Given the description of an element on the screen output the (x, y) to click on. 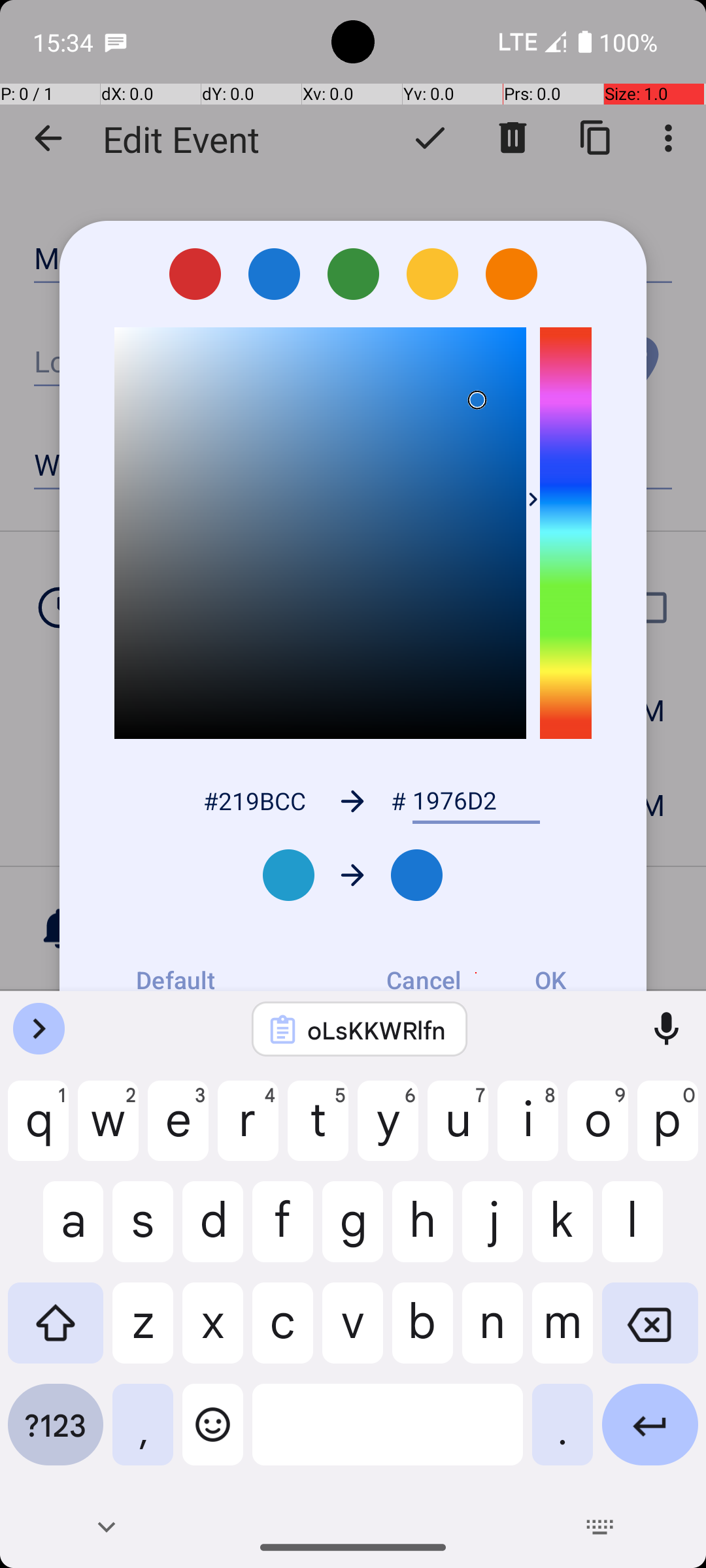
1976D2 Element type: android.widget.EditText (475, 800)
oLsKKWRlfn Element type: android.widget.TextView (376, 1029)
